Given the description of an element on the screen output the (x, y) to click on. 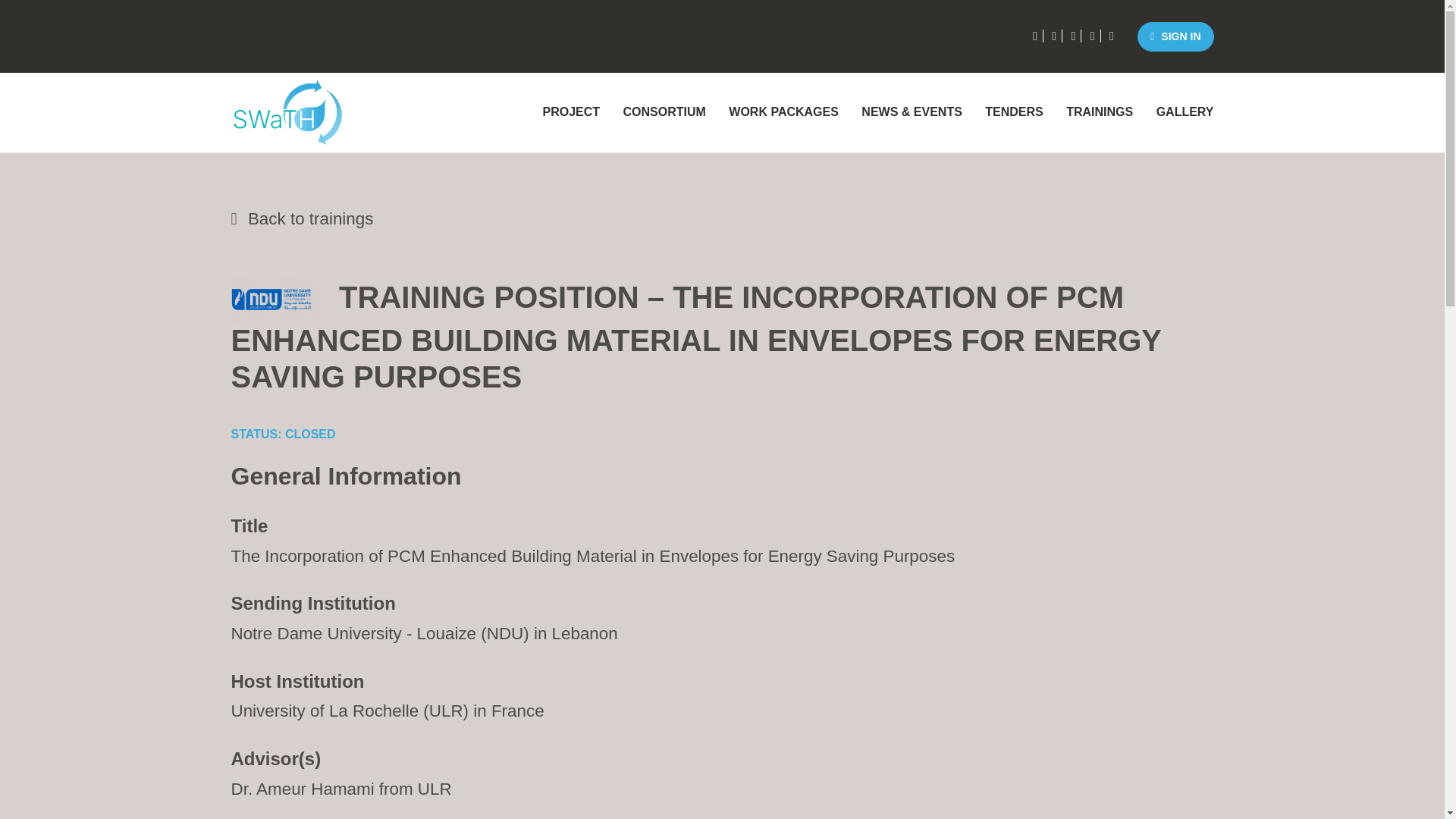
TRAININGS (1099, 111)
GALLERY (1180, 111)
TENDERS (1013, 111)
Back to trainings (721, 218)
WORK PACKAGES (783, 111)
PROJECT (571, 111)
CONSORTIUM (664, 111)
SIGN IN (1174, 36)
